Given the description of an element on the screen output the (x, y) to click on. 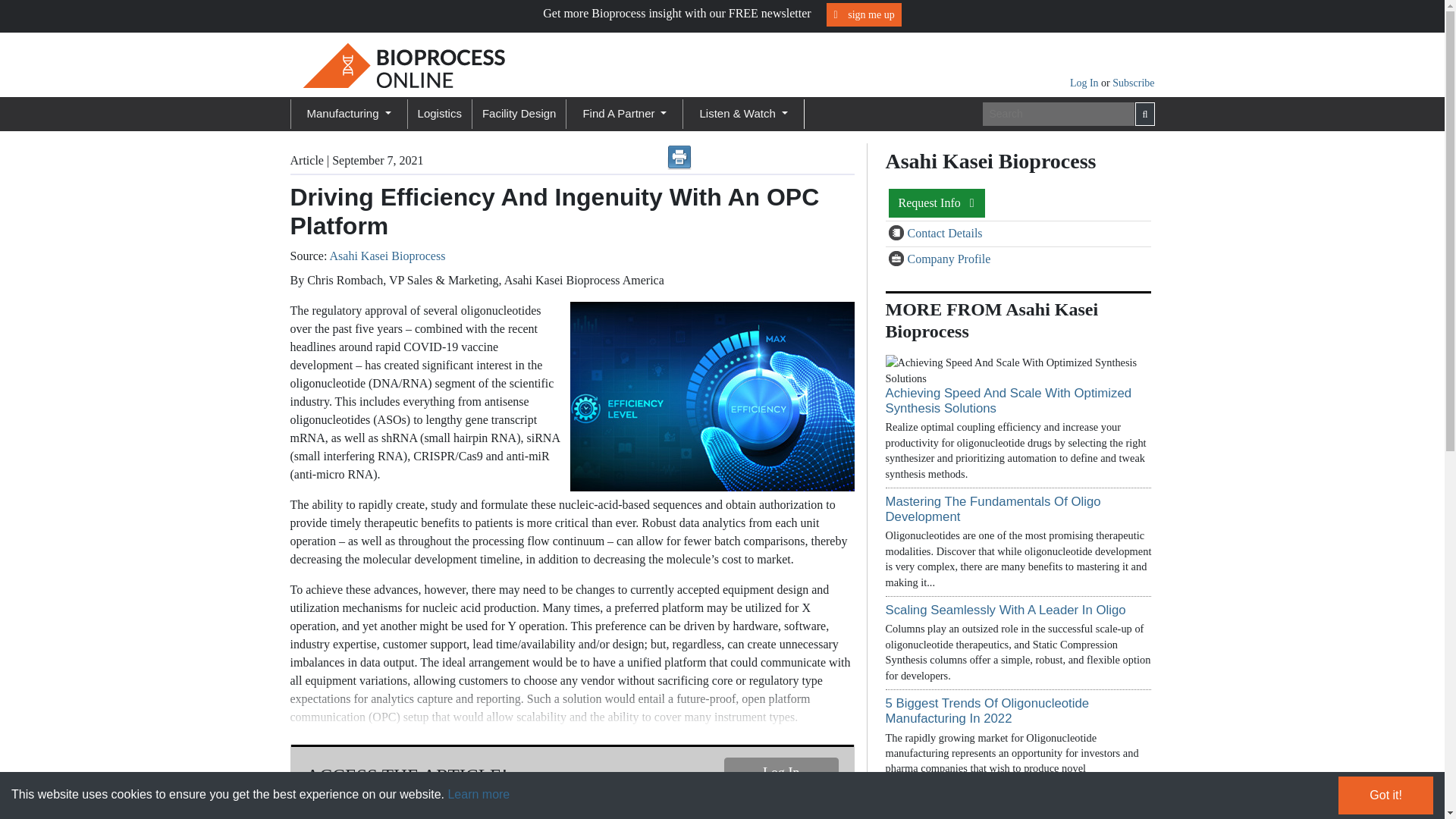
Contact Details (897, 233)
Subscribe (1133, 82)
Manufacturing (347, 113)
Asahi Kasei Bioprocess (387, 255)
Print (679, 157)
Efficiency levels knob button iStock-1201022734 (708, 396)
sign me up (864, 14)
Facility Design (518, 113)
Logistics (439, 113)
Company Profile (897, 259)
Log In (1085, 82)
Log In (780, 772)
Find A Partner (624, 113)
